Given the description of an element on the screen output the (x, y) to click on. 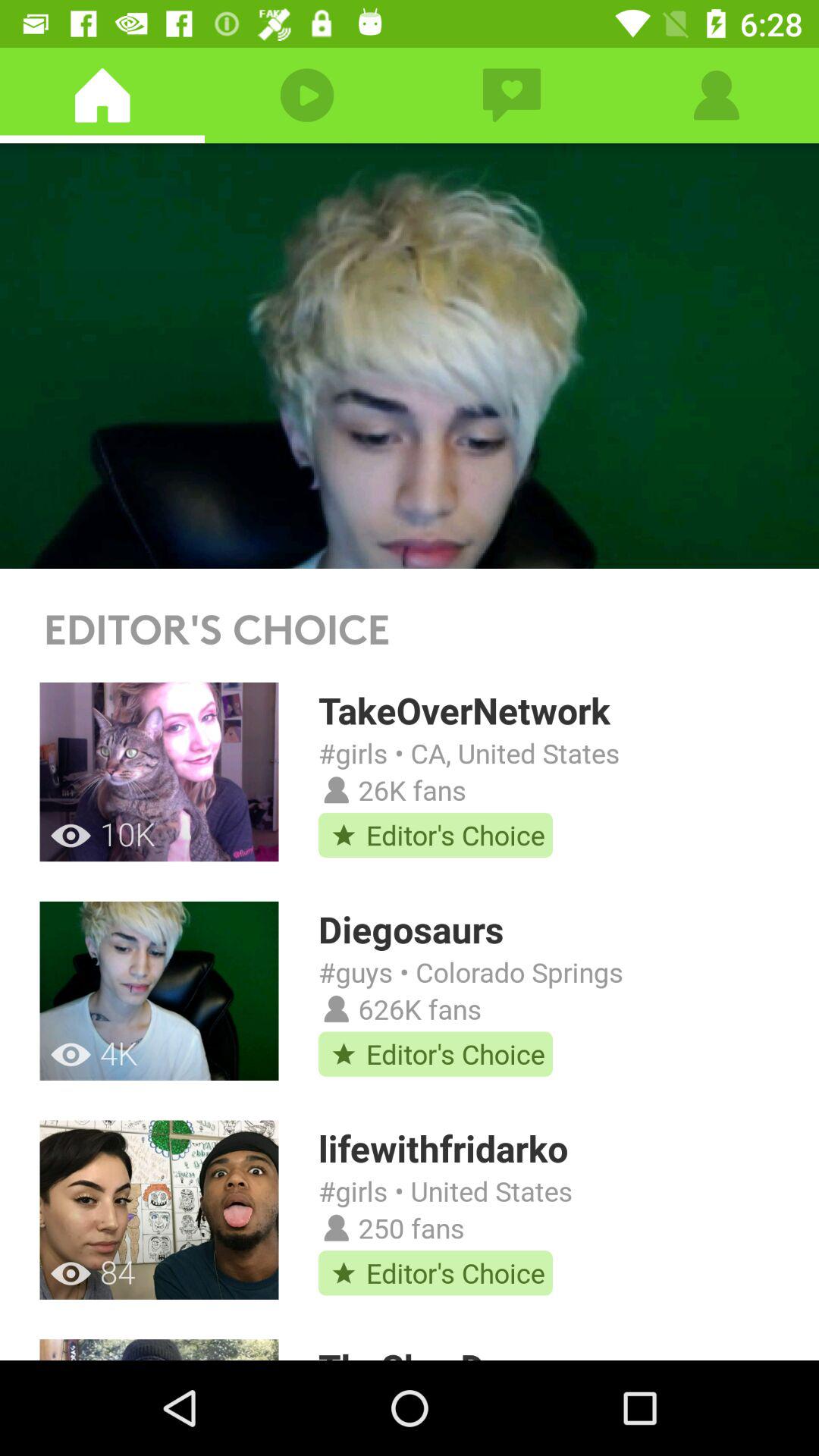
select image (409, 355)
